Given the description of an element on the screen output the (x, y) to click on. 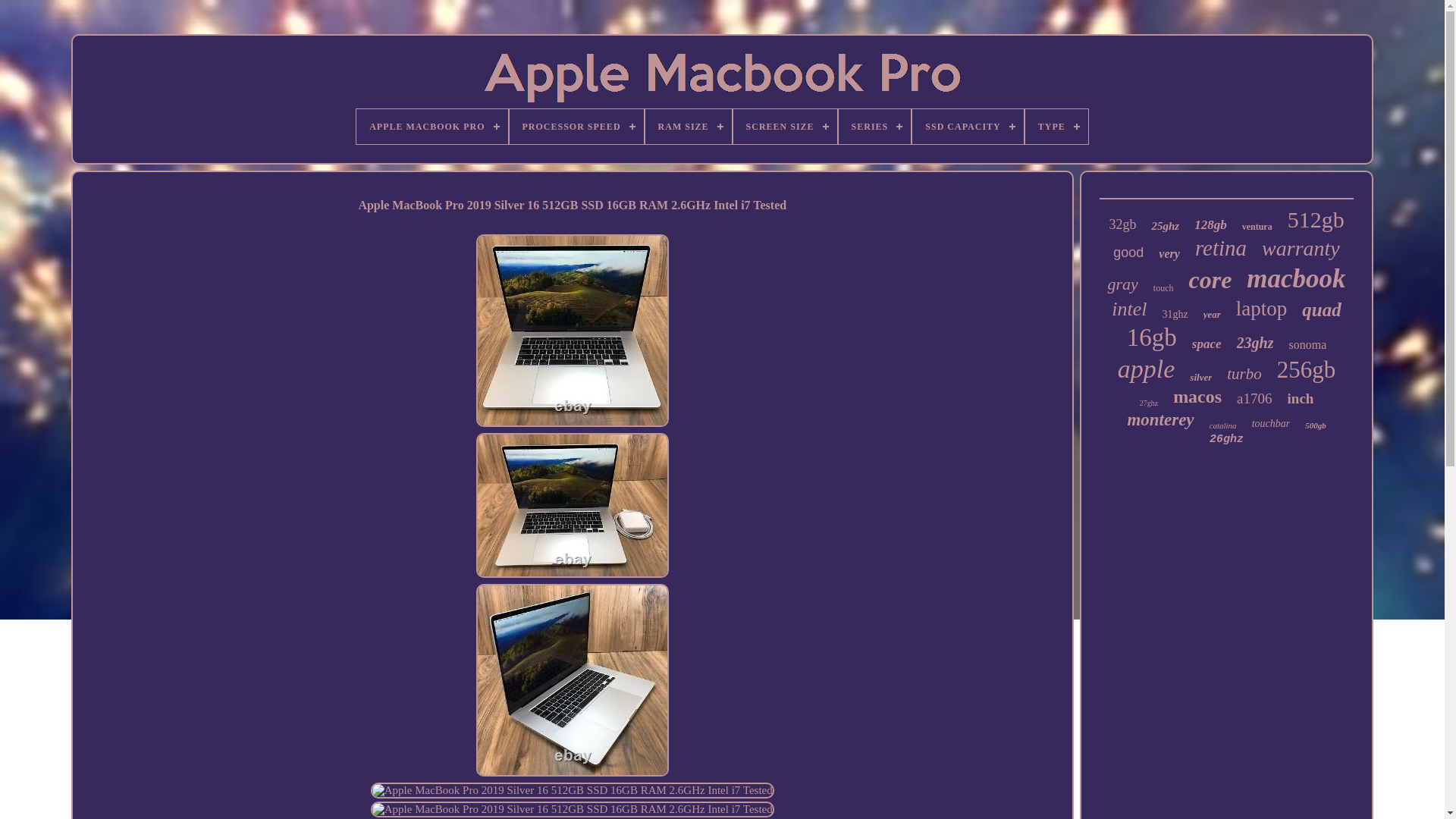
RAM SIZE (688, 126)
PROCESSOR SPEED (576, 126)
APPLE MACBOOK PRO (431, 126)
